Given the description of an element on the screen output the (x, y) to click on. 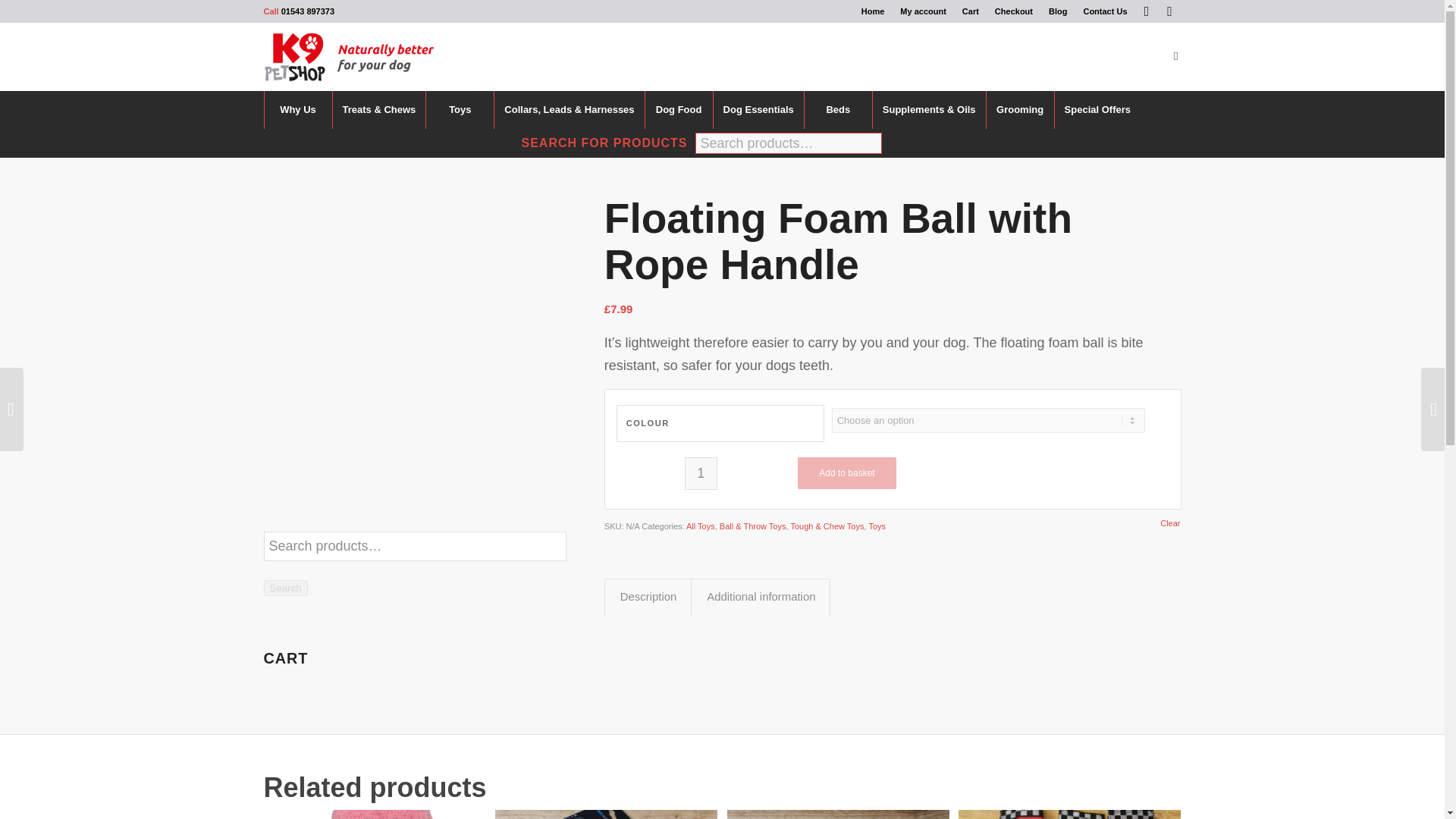
Checkout (1013, 11)
1 (700, 473)
Instagram (1169, 11)
Why Us (297, 109)
Home (873, 11)
Toys (459, 109)
My account (922, 11)
Blog (1057, 11)
Facebook (1146, 11)
Contact Us (1104, 11)
